Given the description of an element on the screen output the (x, y) to click on. 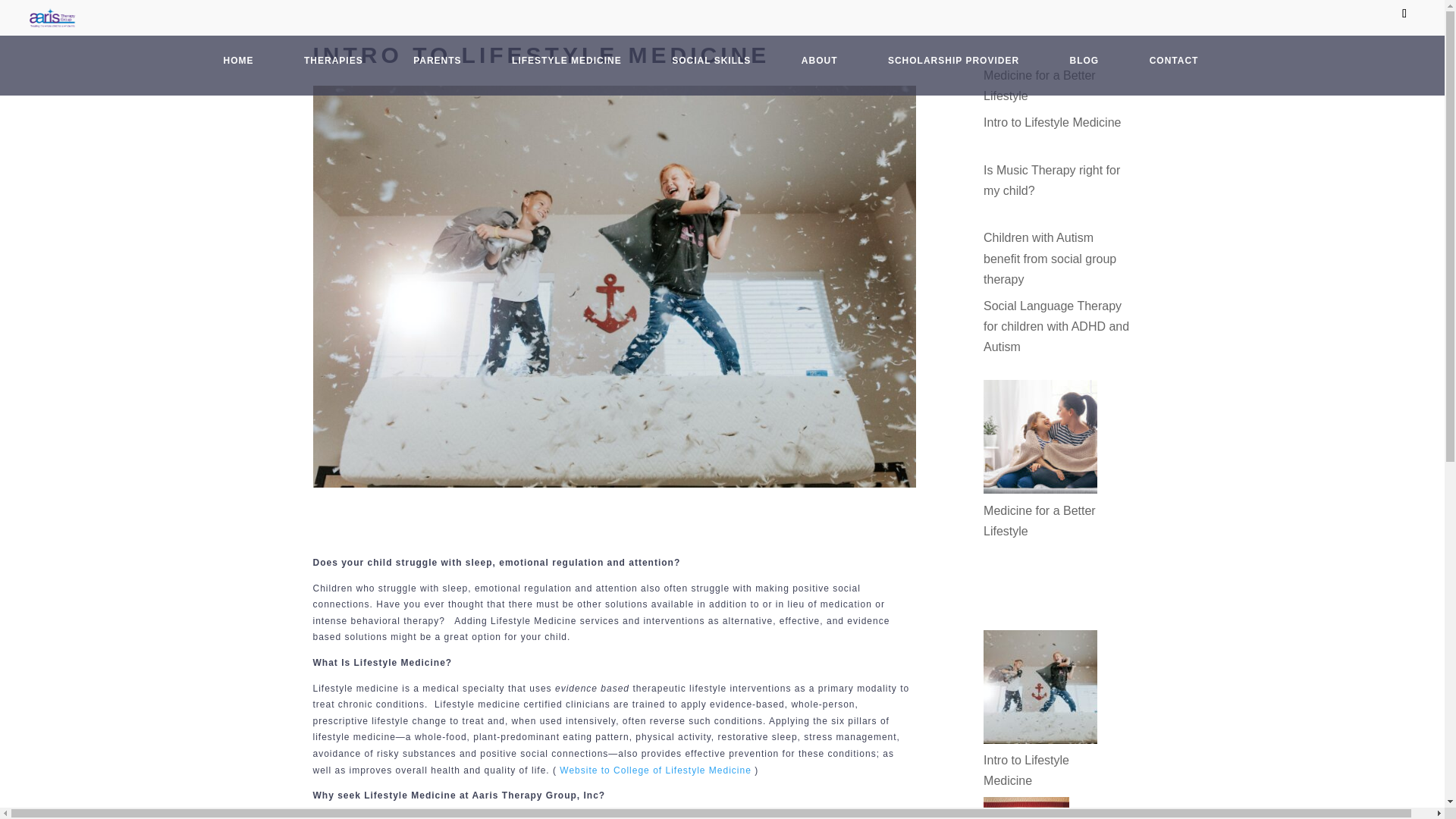
Social Language Therapy for children with ADHD and Autism (1056, 325)
BLOG (1084, 69)
PARENTS (436, 67)
Intro to Lifestyle Medicine (1026, 770)
HOME (238, 69)
Website to College of Lifestyle Medicine (655, 769)
Intro to Lifestyle Medicine (1052, 122)
SCHOLARSHIP PROVIDER (952, 58)
Children with Autism benefit from social group therapy (1050, 257)
LIFESTYLE MEDICINE (566, 61)
